Given the description of an element on the screen output the (x, y) to click on. 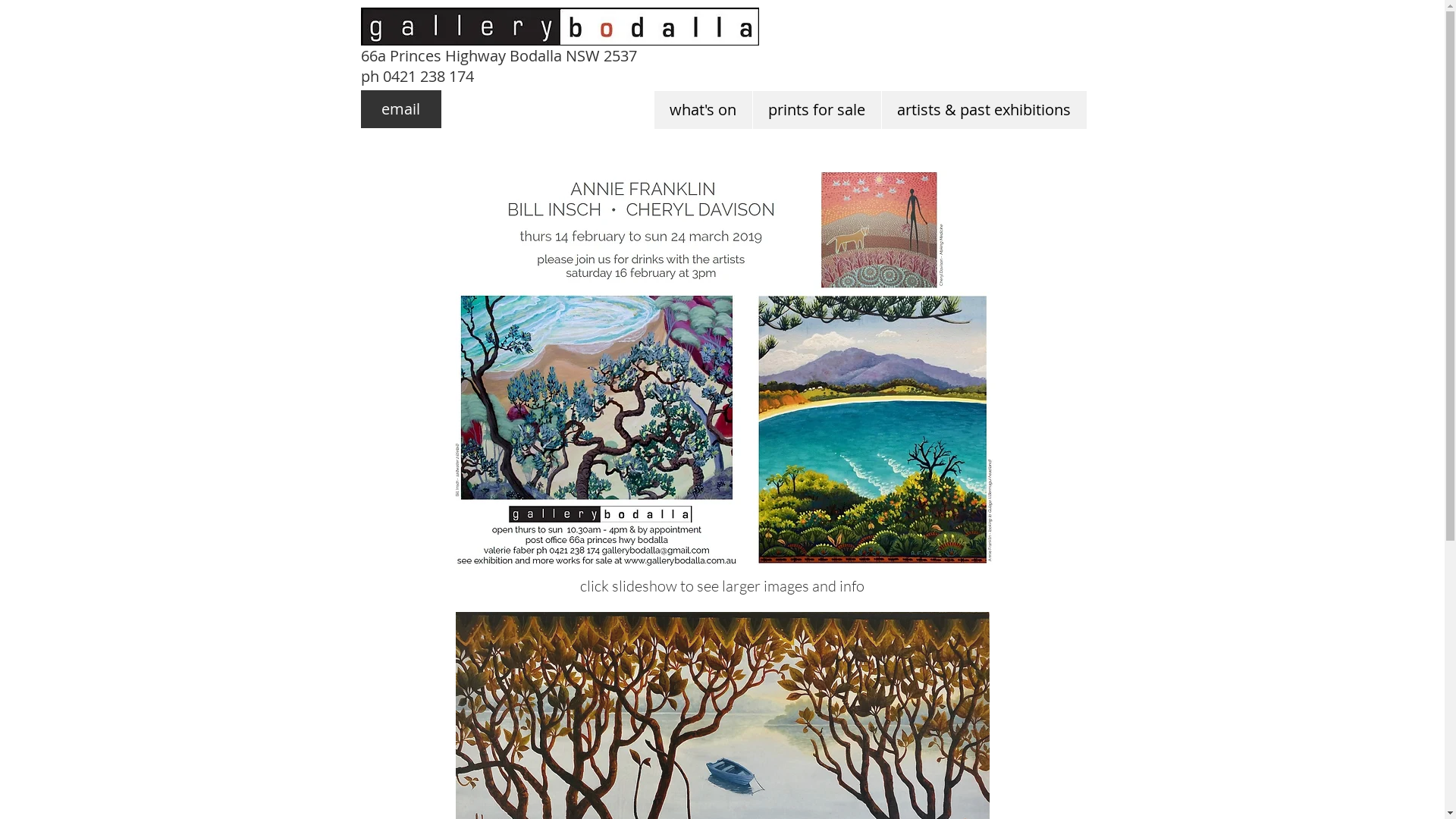
email Element type: text (400, 109)
artists & past exhibitions Element type: text (983, 109)
what's on Element type: text (702, 109)
prints for sale Element type: text (816, 109)
